Given the description of an element on the screen output the (x, y) to click on. 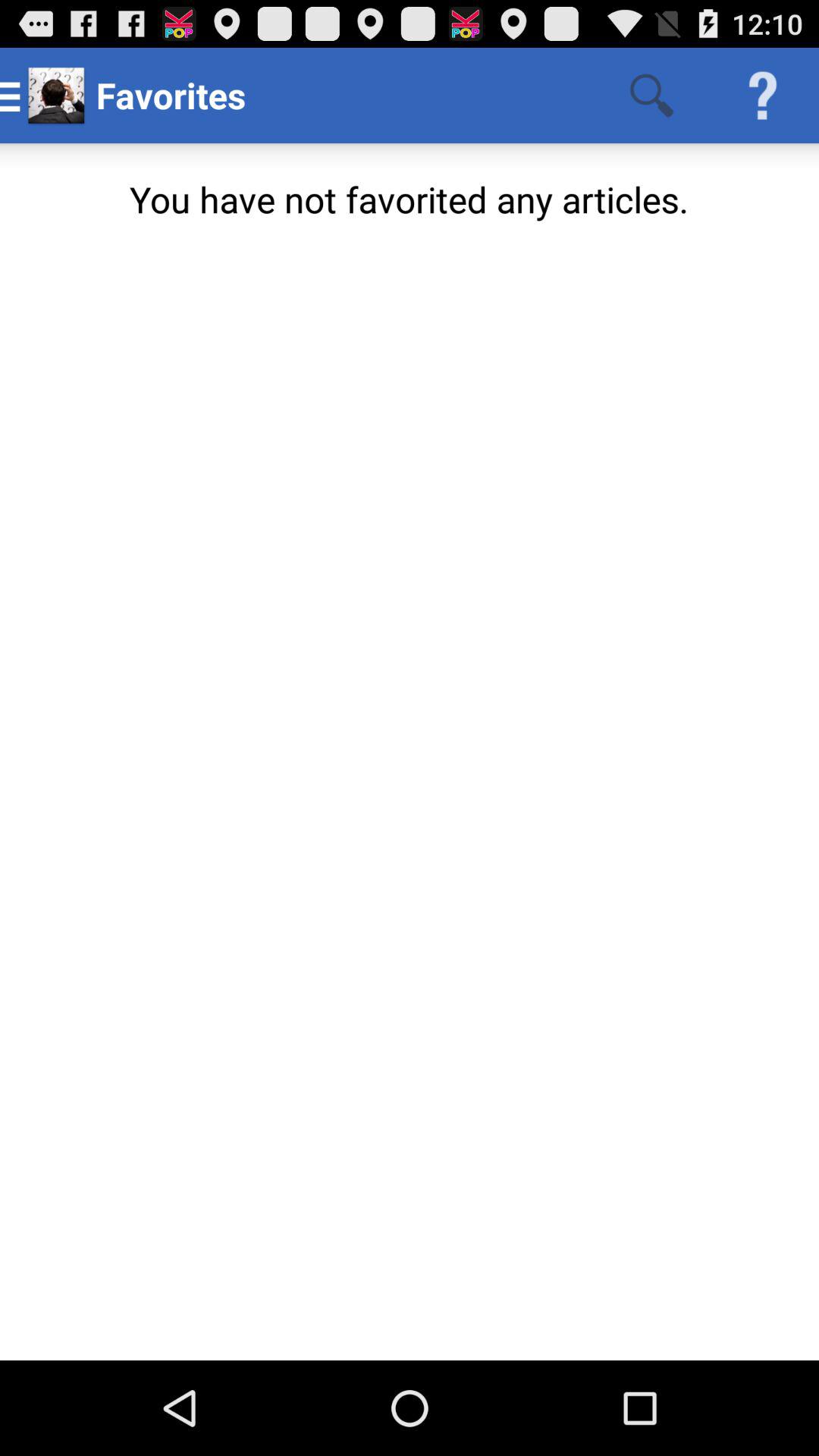
press item next to the favorites icon (651, 95)
